Given the description of an element on the screen output the (x, y) to click on. 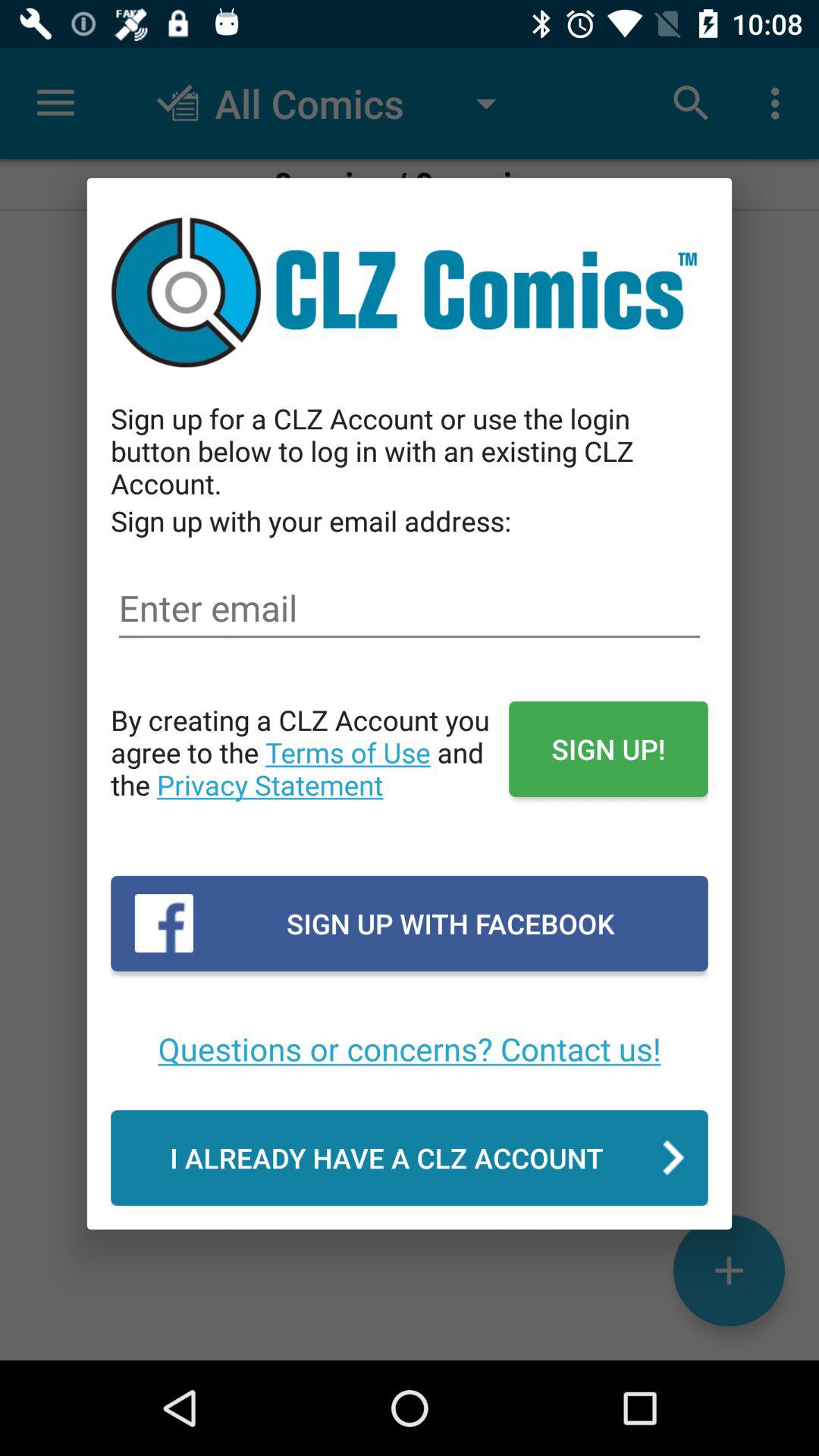
swipe to questions or concerns item (409, 1048)
